Given the description of an element on the screen output the (x, y) to click on. 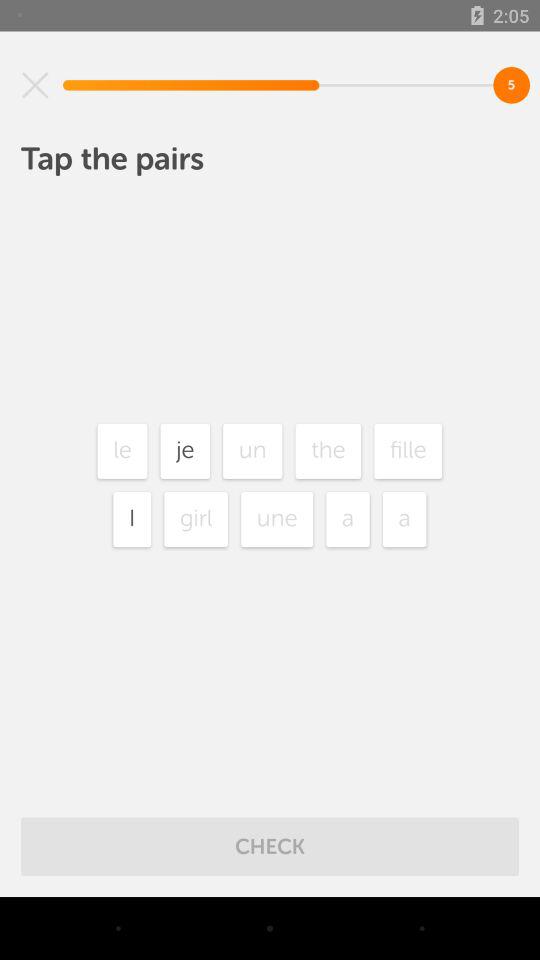
turn on the icon to the right of le item (185, 450)
